Given the description of an element on the screen output the (x, y) to click on. 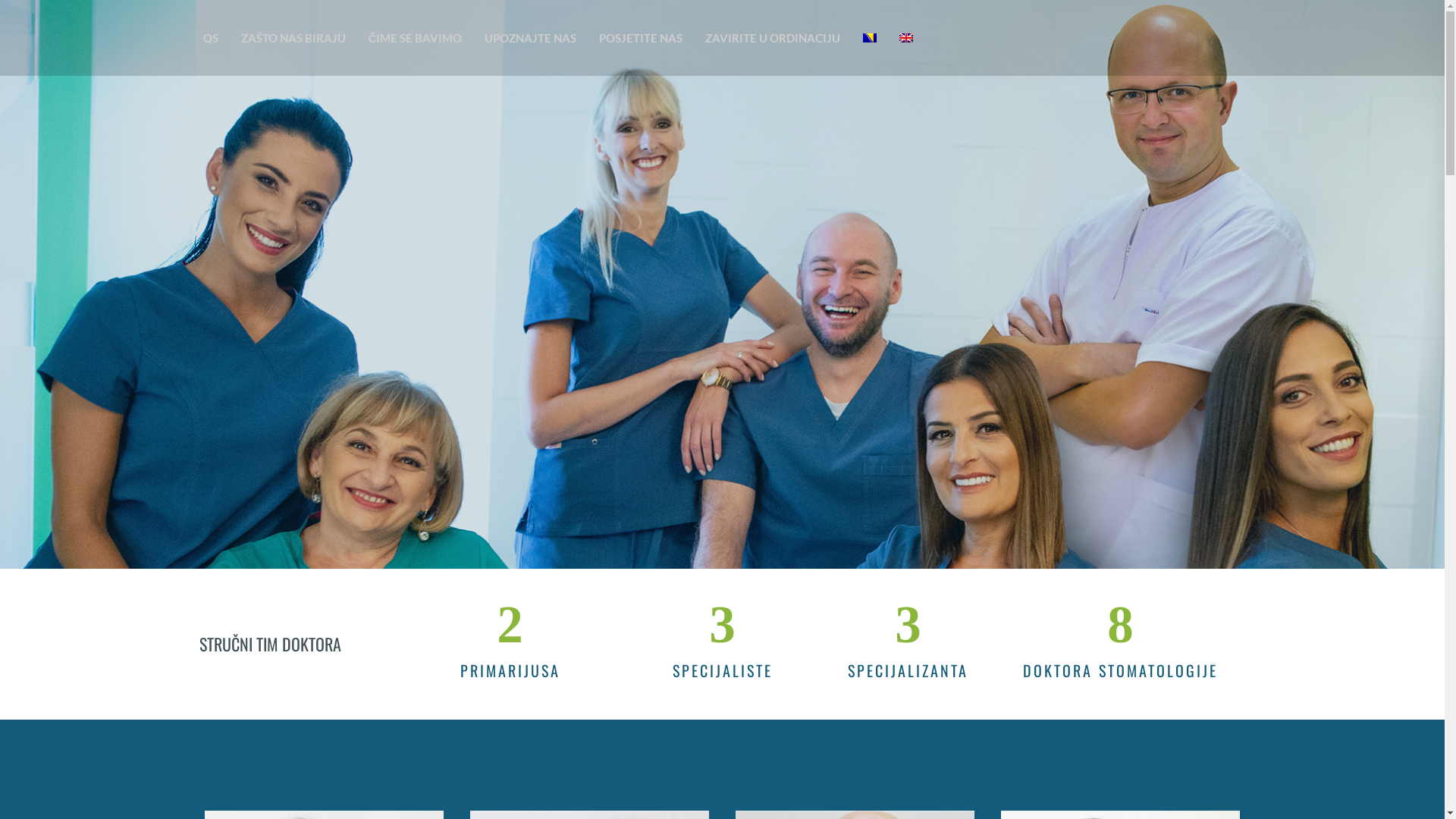
QS Element type: text (210, 37)
POSJETITE NAS Element type: text (640, 37)
UPOZNAJTE NAS Element type: text (530, 37)
ZAVIRITE U ORDINACIJU Element type: text (772, 37)
